Given the description of an element on the screen output the (x, y) to click on. 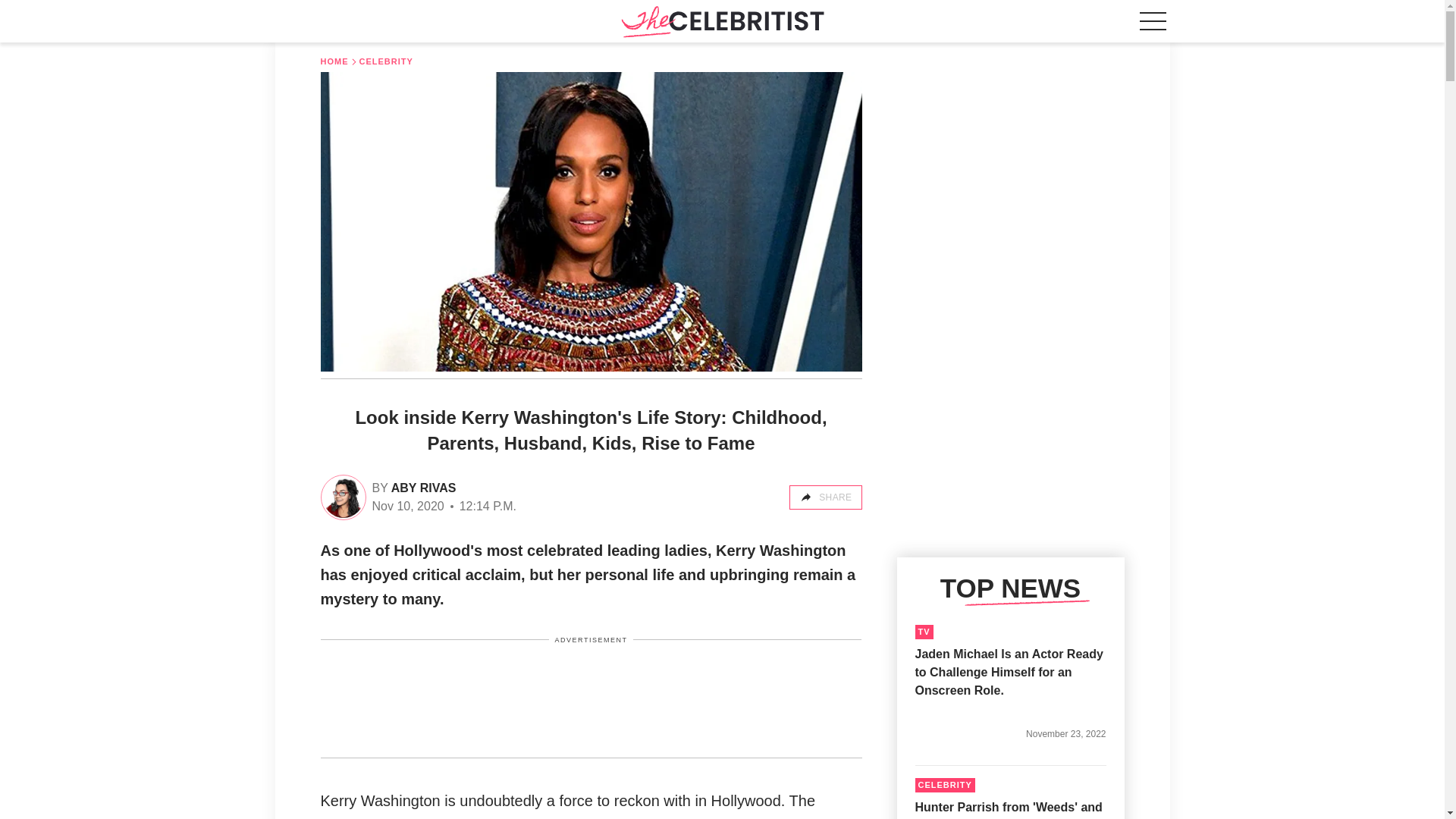
HOME (333, 61)
SHARE (825, 497)
TV (923, 631)
ABY RIVAS (422, 487)
CELEBRITY (386, 61)
CELEBRITY (944, 785)
